Given the description of an element on the screen output the (x, y) to click on. 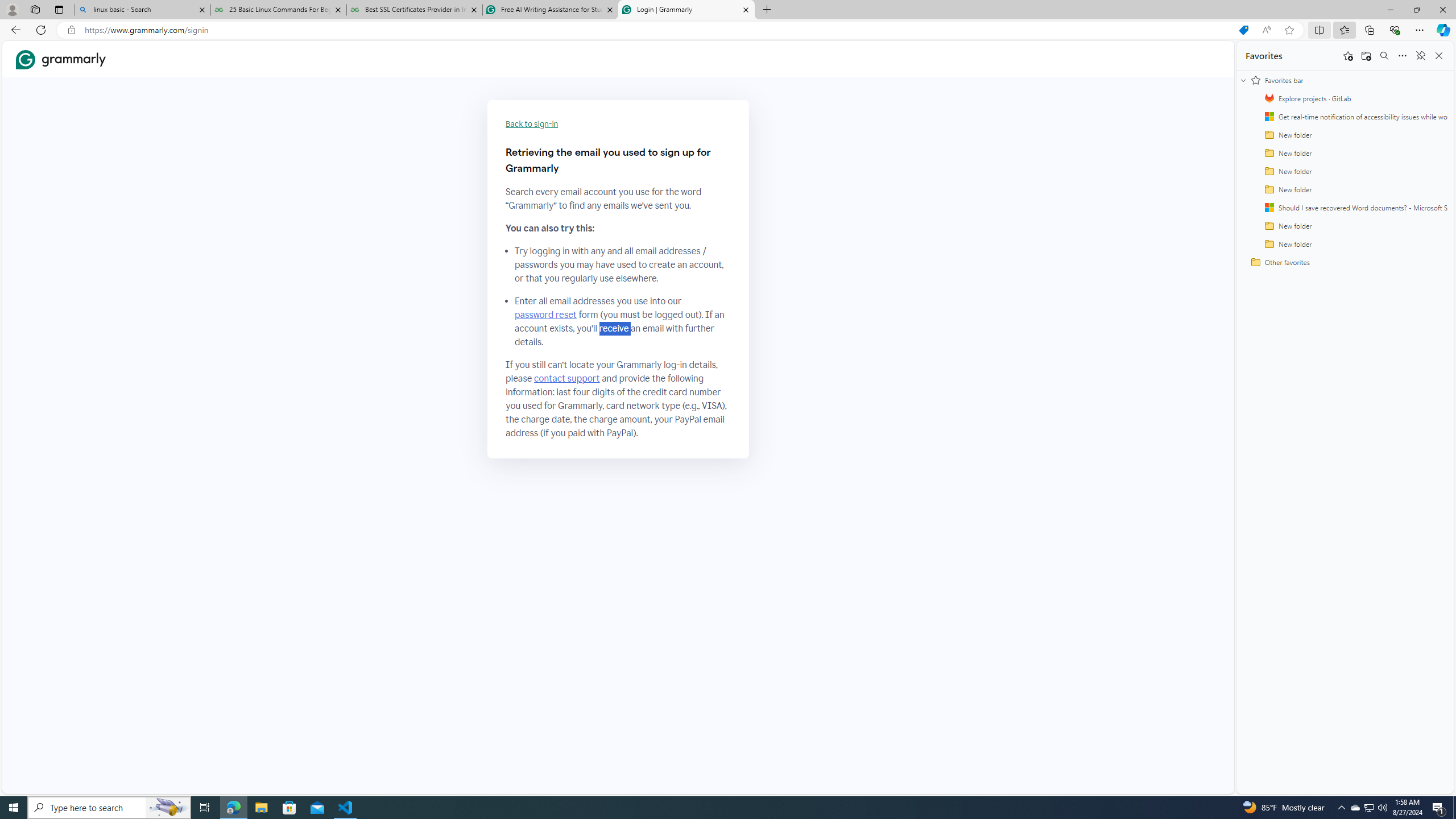
Login | Grammarly (685, 9)
Add folder (1366, 55)
Search favorites (1383, 55)
